Given the description of an element on the screen output the (x, y) to click on. 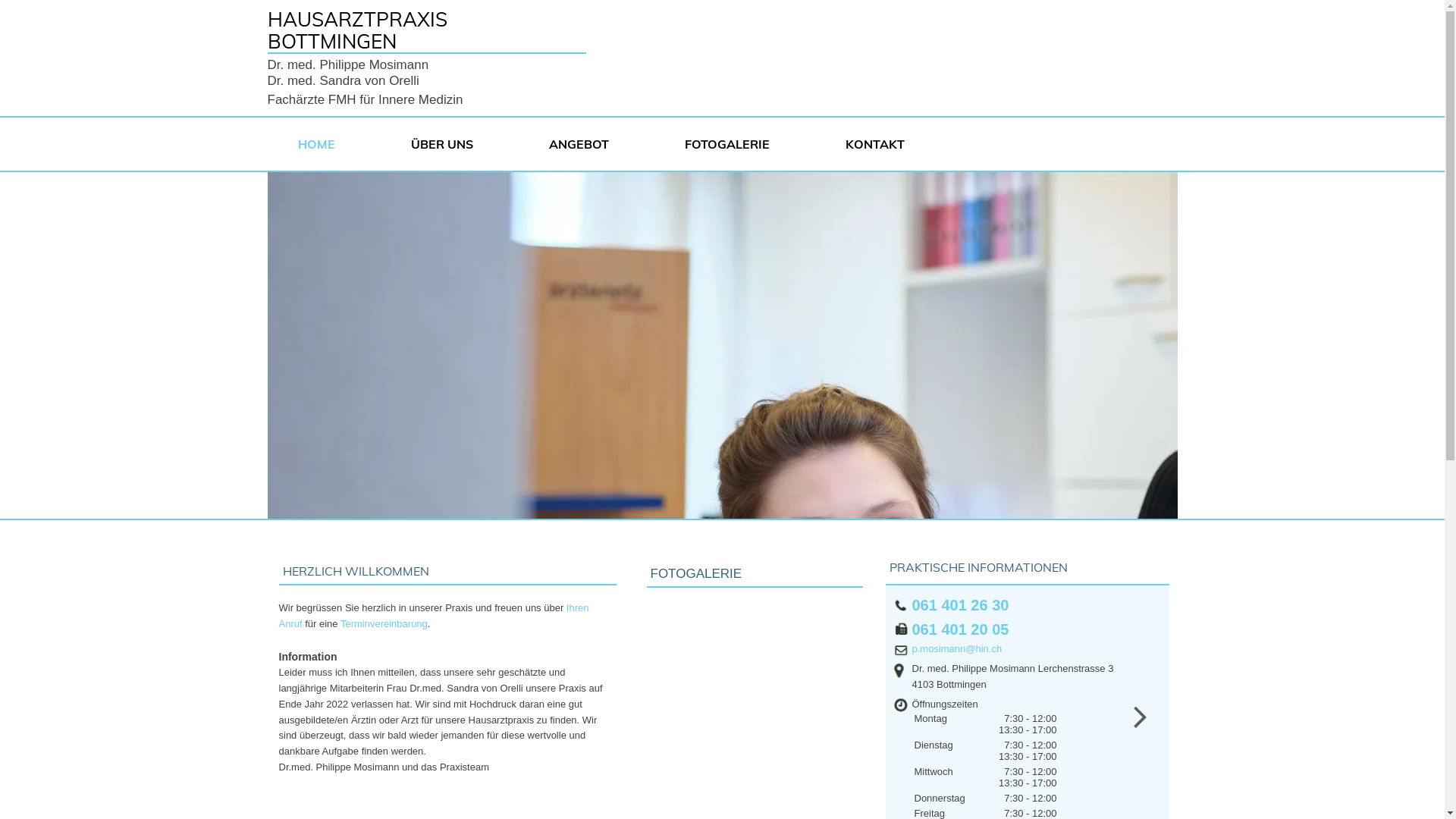
061 401 20 05 Element type: text (959, 629)
HOME Element type: text (322, 143)
ANGEBOT Element type: text (586, 143)
KONTAKT Element type: text (881, 143)
p.mosimann@hin.ch Element type: text (956, 648)
Ihren Anruf Element type: text (434, 615)
FOTOGALERIE Element type: text (733, 143)
Terminvereinbarung Element type: text (383, 623)
061 401 26 30 Element type: text (959, 604)
